Given the description of an element on the screen output the (x, y) to click on. 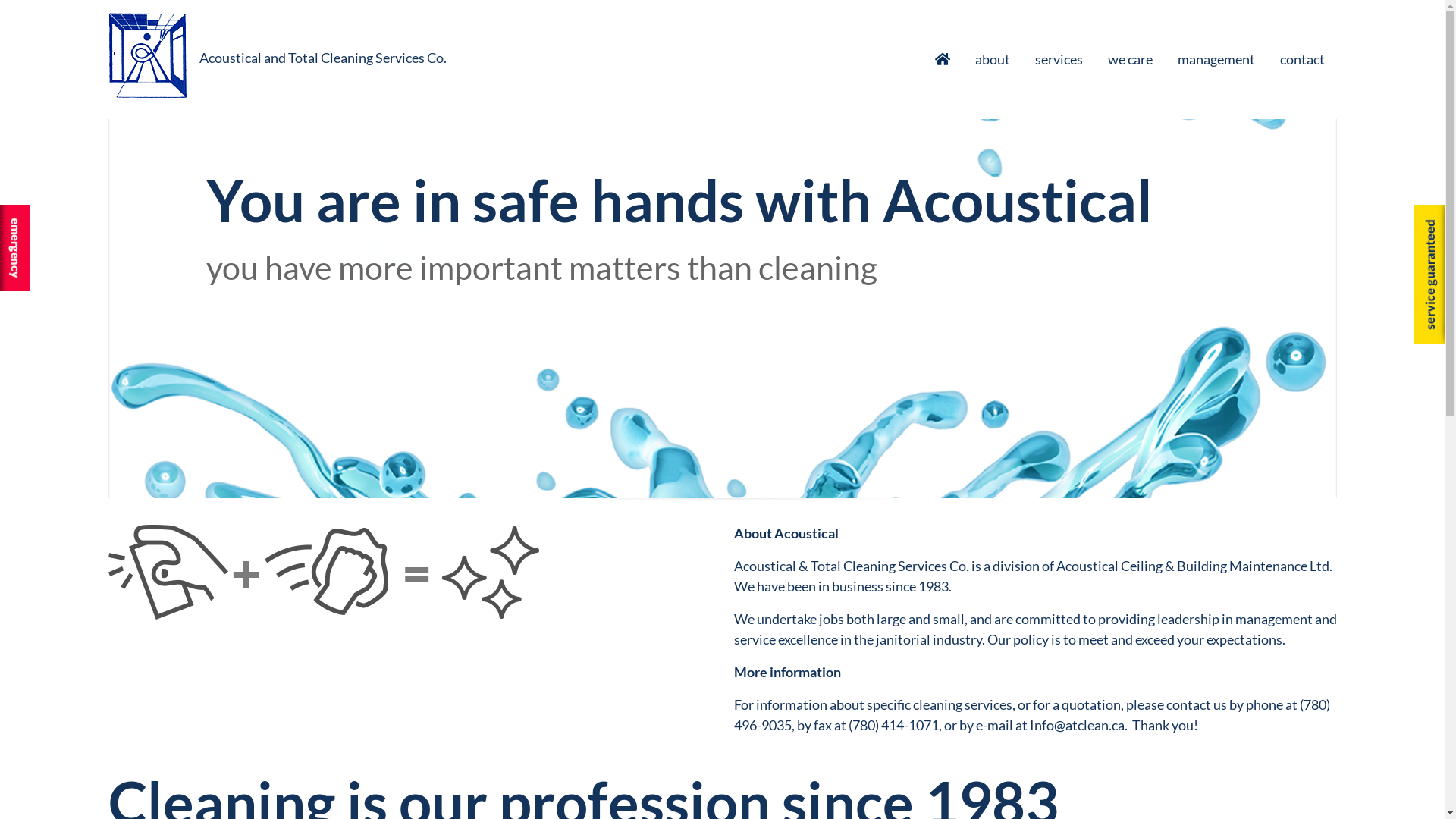
management Element type: text (1216, 59)
about Element type: text (992, 59)
contact Element type: text (1308, 59)
we care Element type: text (1129, 59)
